Given the description of an element on the screen output the (x, y) to click on. 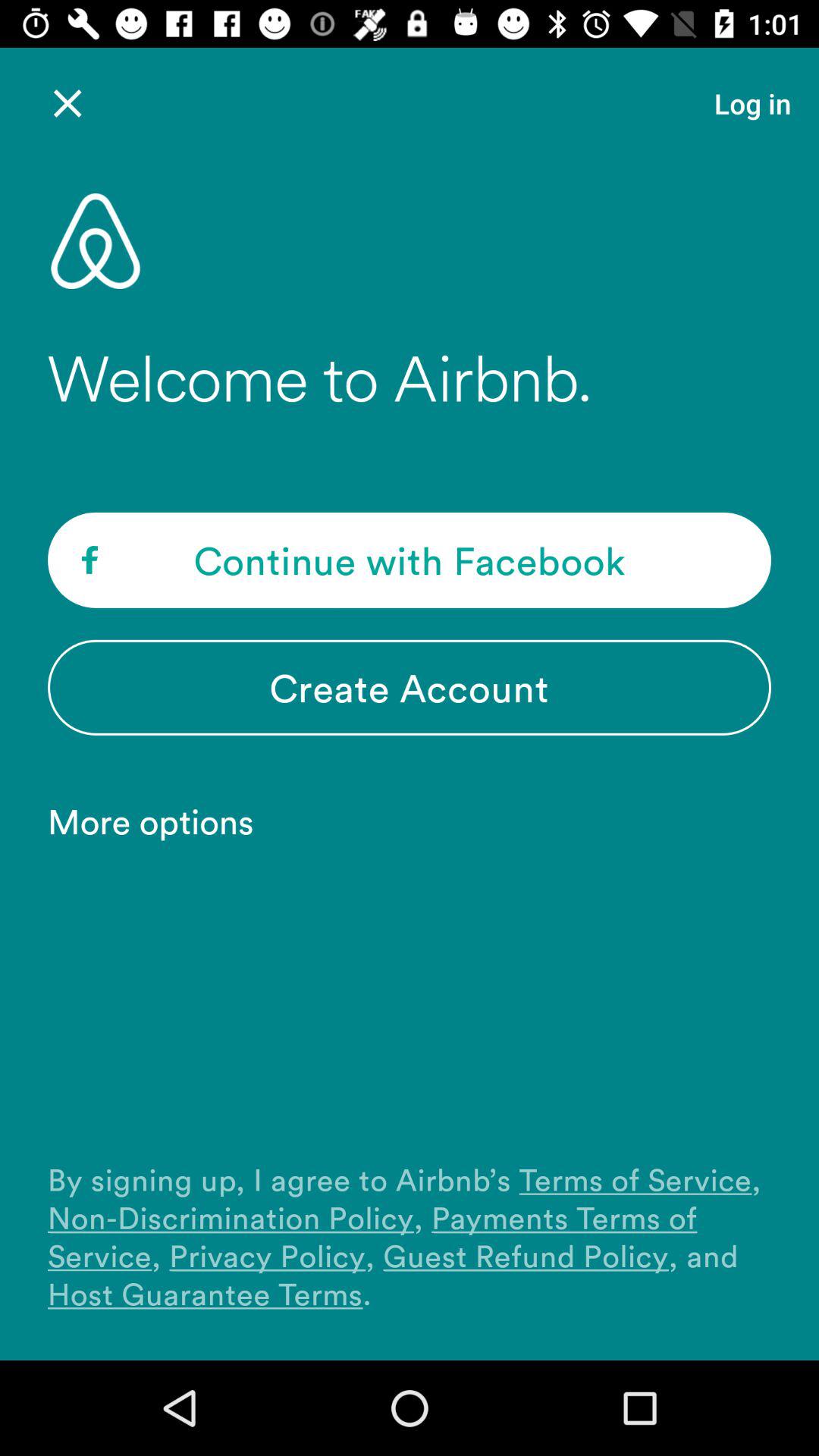
turn off the item at the top right corner (752, 103)
